Given the description of an element on the screen output the (x, y) to click on. 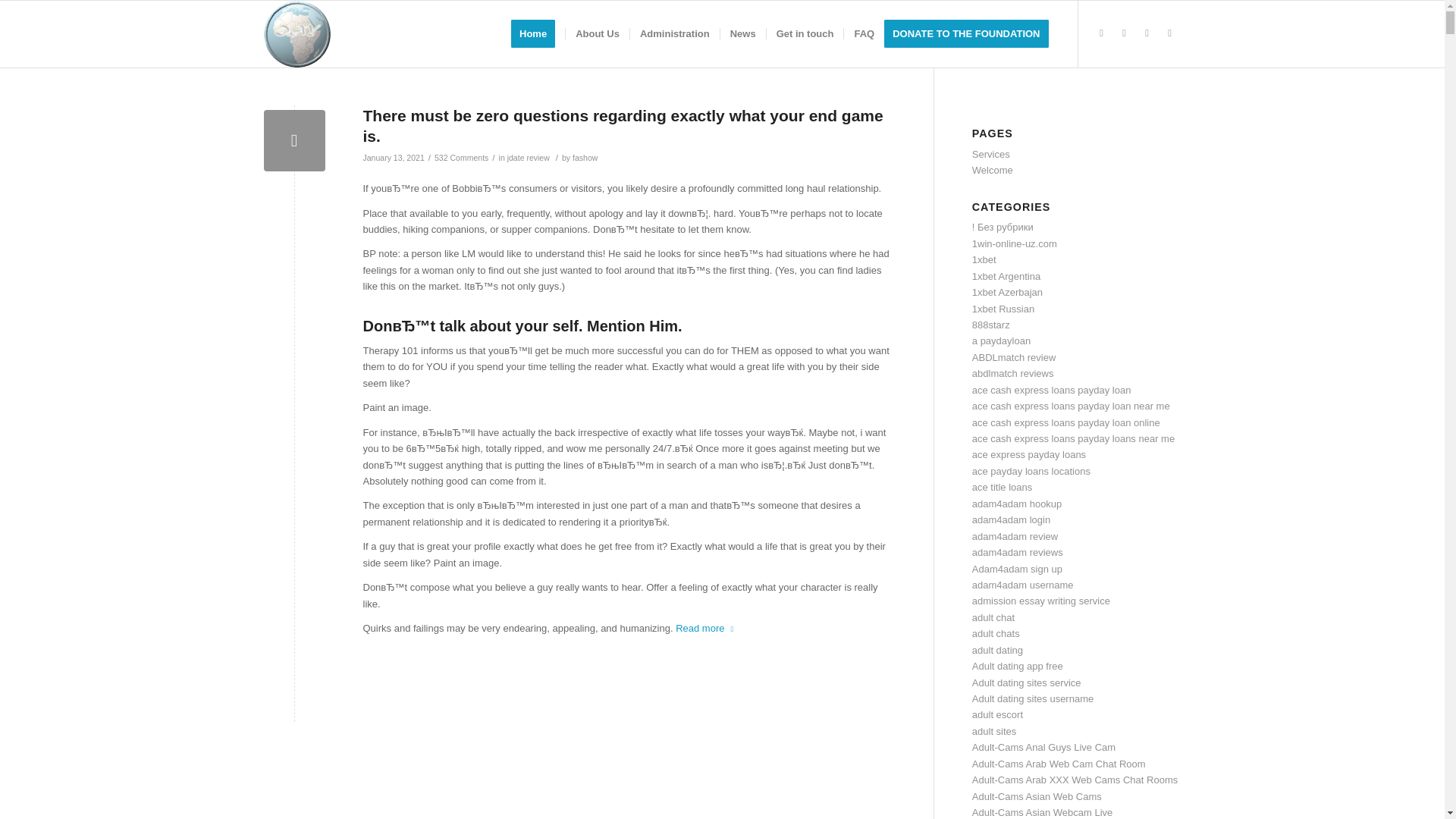
Facebook (1124, 33)
About Us (596, 33)
abdlmatch reviews (1013, 373)
Twitter (1101, 33)
Posts by fashow (584, 157)
1xbet Azerbajan (1007, 292)
Get in touch (804, 33)
a paydayloan (1001, 340)
